Given the description of an element on the screen output the (x, y) to click on. 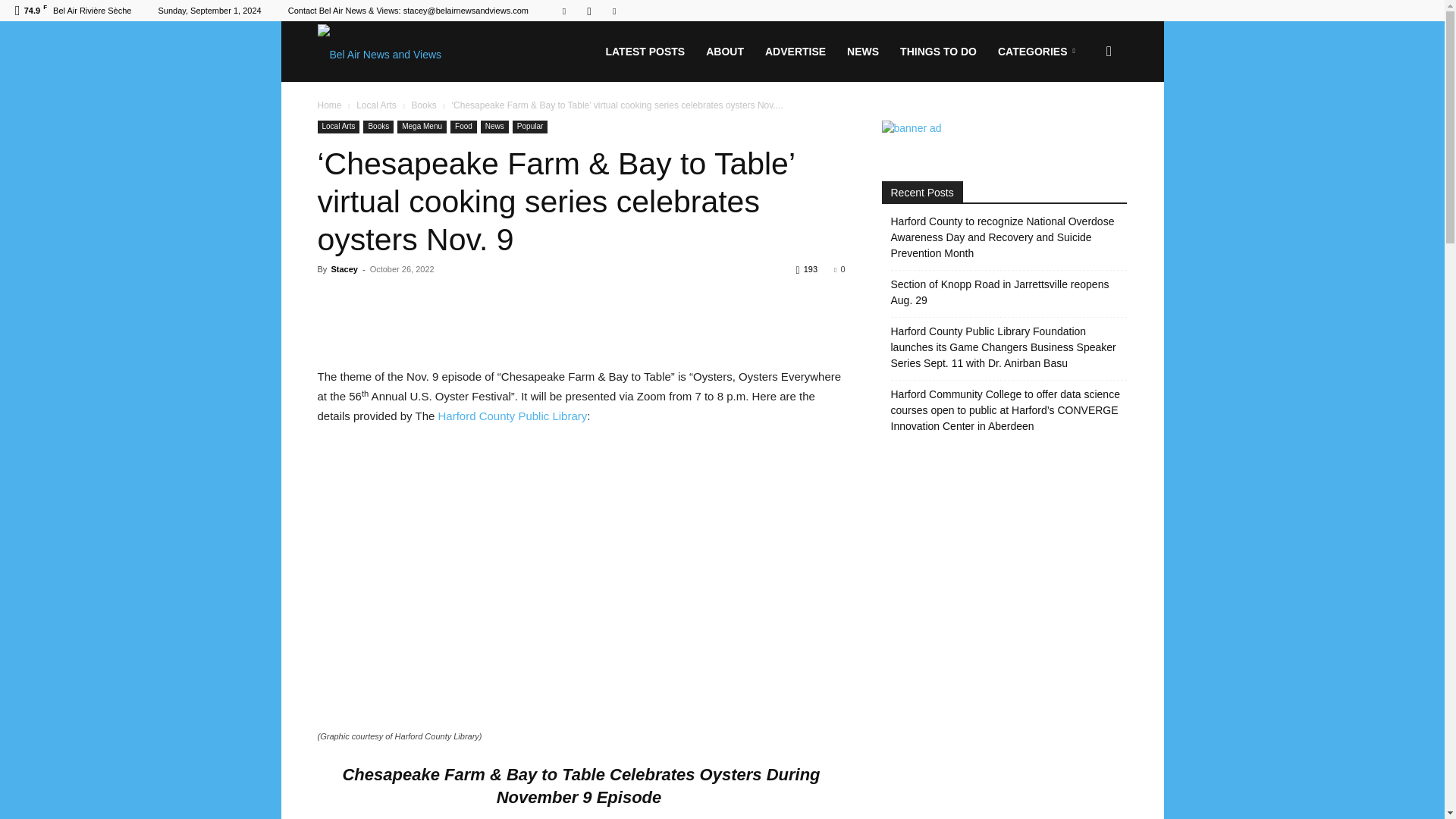
Search (1085, 124)
Twitter (614, 10)
Facebook (564, 10)
Instagram (588, 10)
Bel Air News and Views (379, 52)
